Given the description of an element on the screen output the (x, y) to click on. 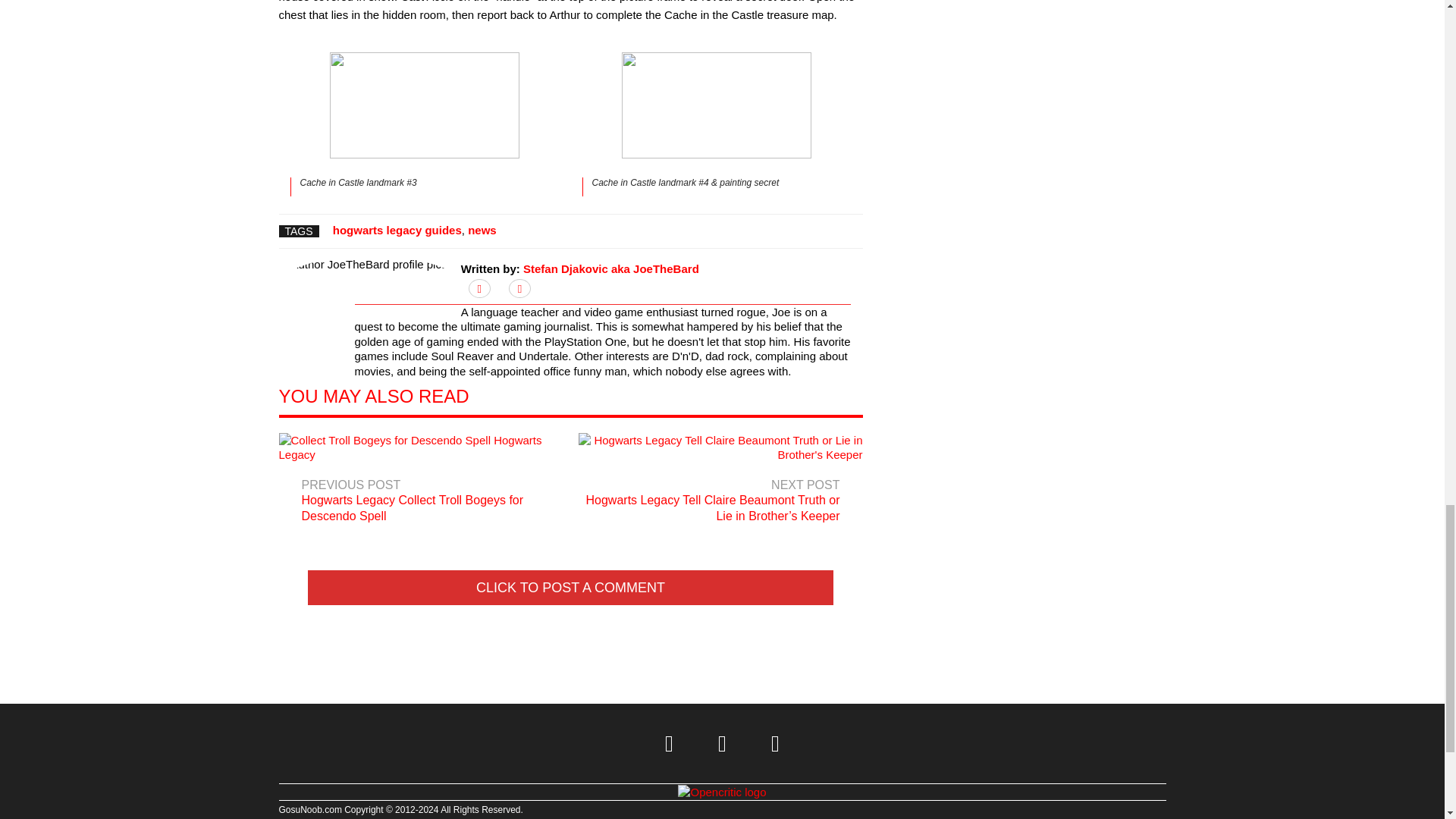
Facebook Profile page (722, 743)
Youtube Channel (776, 743)
Stefan Djakovic aka JoeTheBard (610, 268)
news (481, 229)
hogwarts legacy guides (397, 229)
Twitter Profile (669, 743)
Contact author (519, 287)
Author Twitter Profile (479, 287)
